Given the description of an element on the screen output the (x, y) to click on. 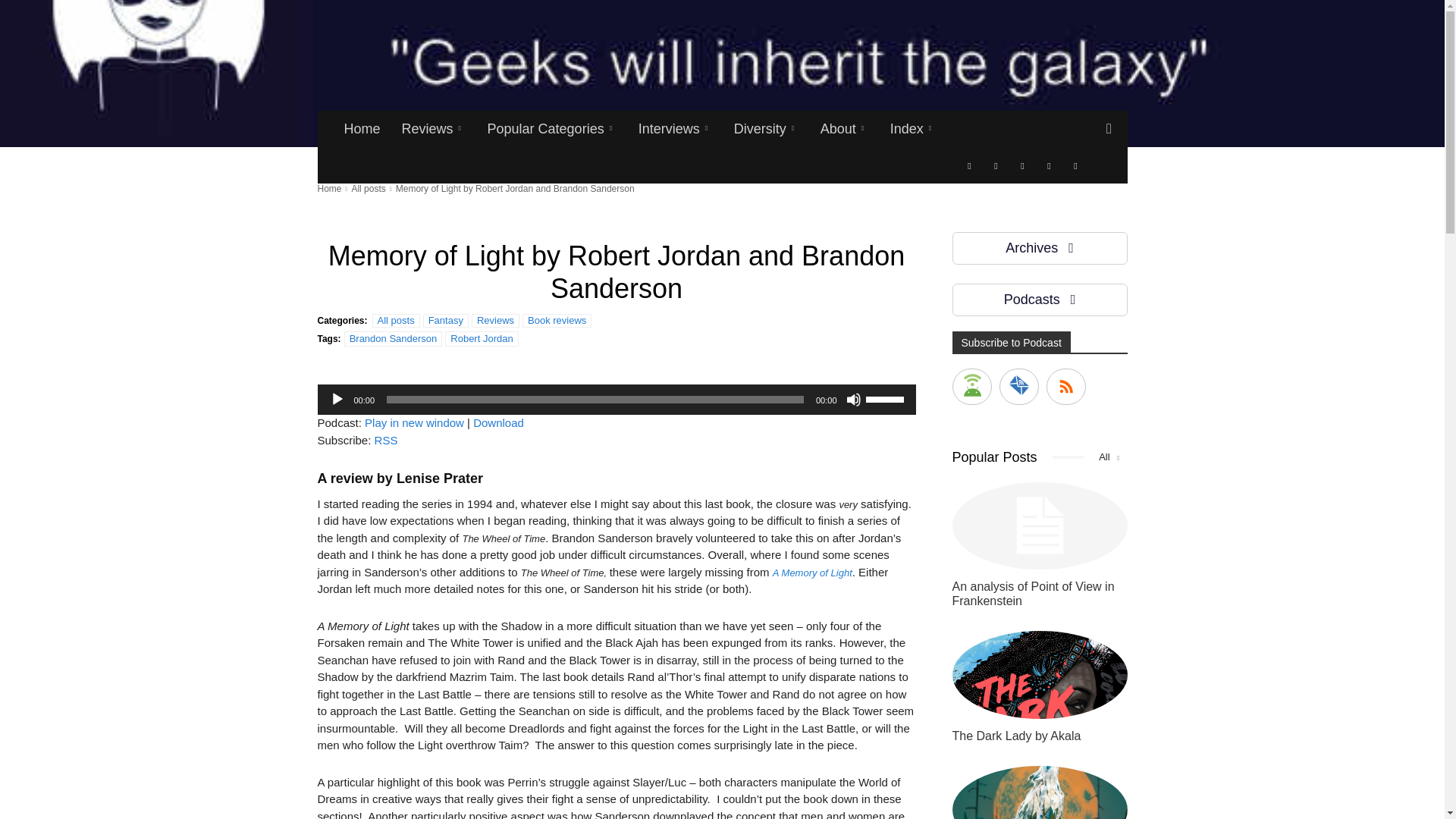
Play (336, 399)
Subscribe via RSS (385, 440)
Download (498, 422)
View all posts in All posts (367, 188)
Mute (853, 399)
Play in new window (414, 422)
